Given the description of an element on the screen output the (x, y) to click on. 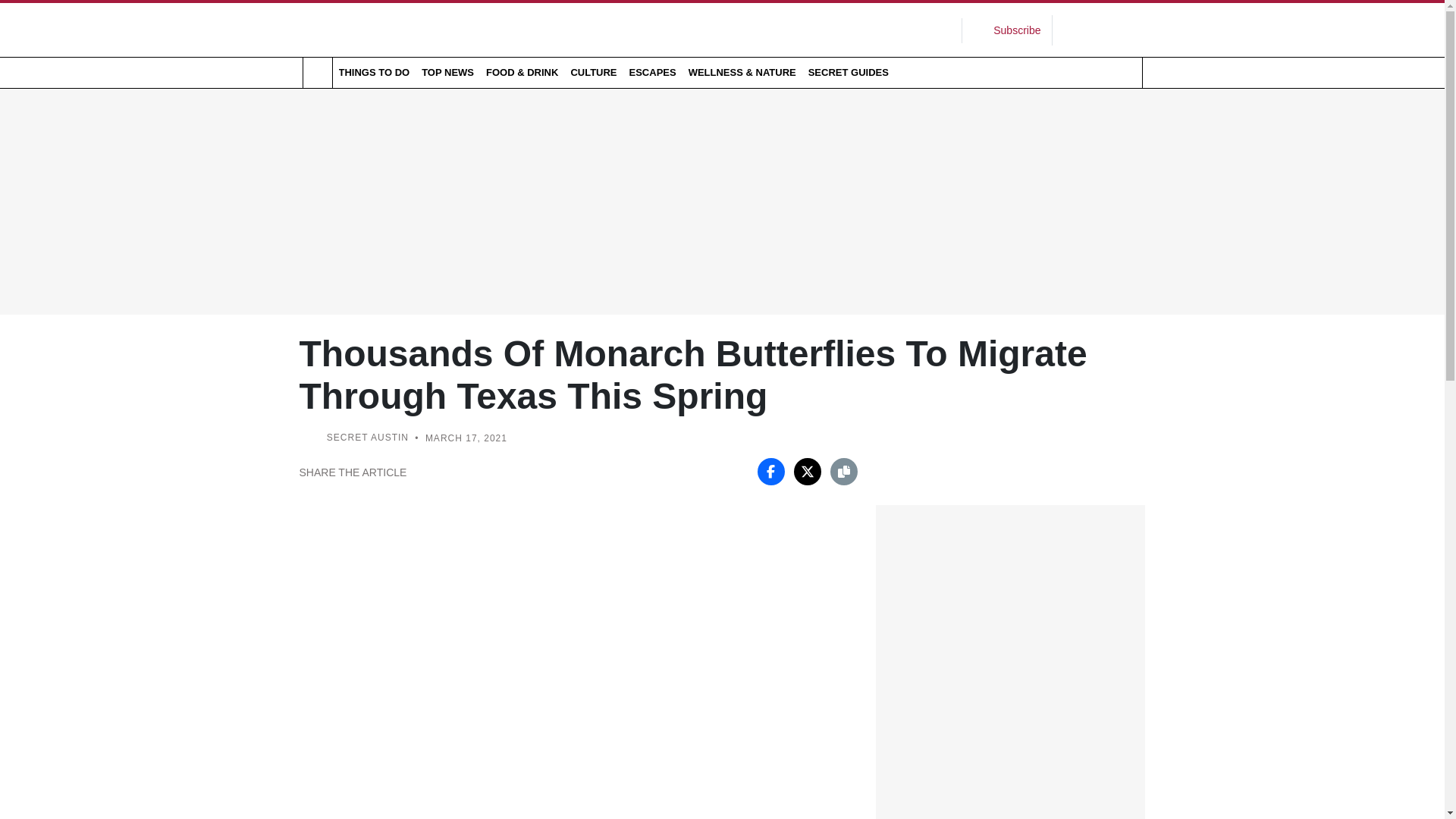
SECRET AUSTIN (367, 438)
SECRET GUIDES (848, 72)
THINGS TO DO (373, 72)
CULTURE (592, 72)
TOP NEWS (448, 72)
ESCAPES (652, 72)
